Given the description of an element on the screen output the (x, y) to click on. 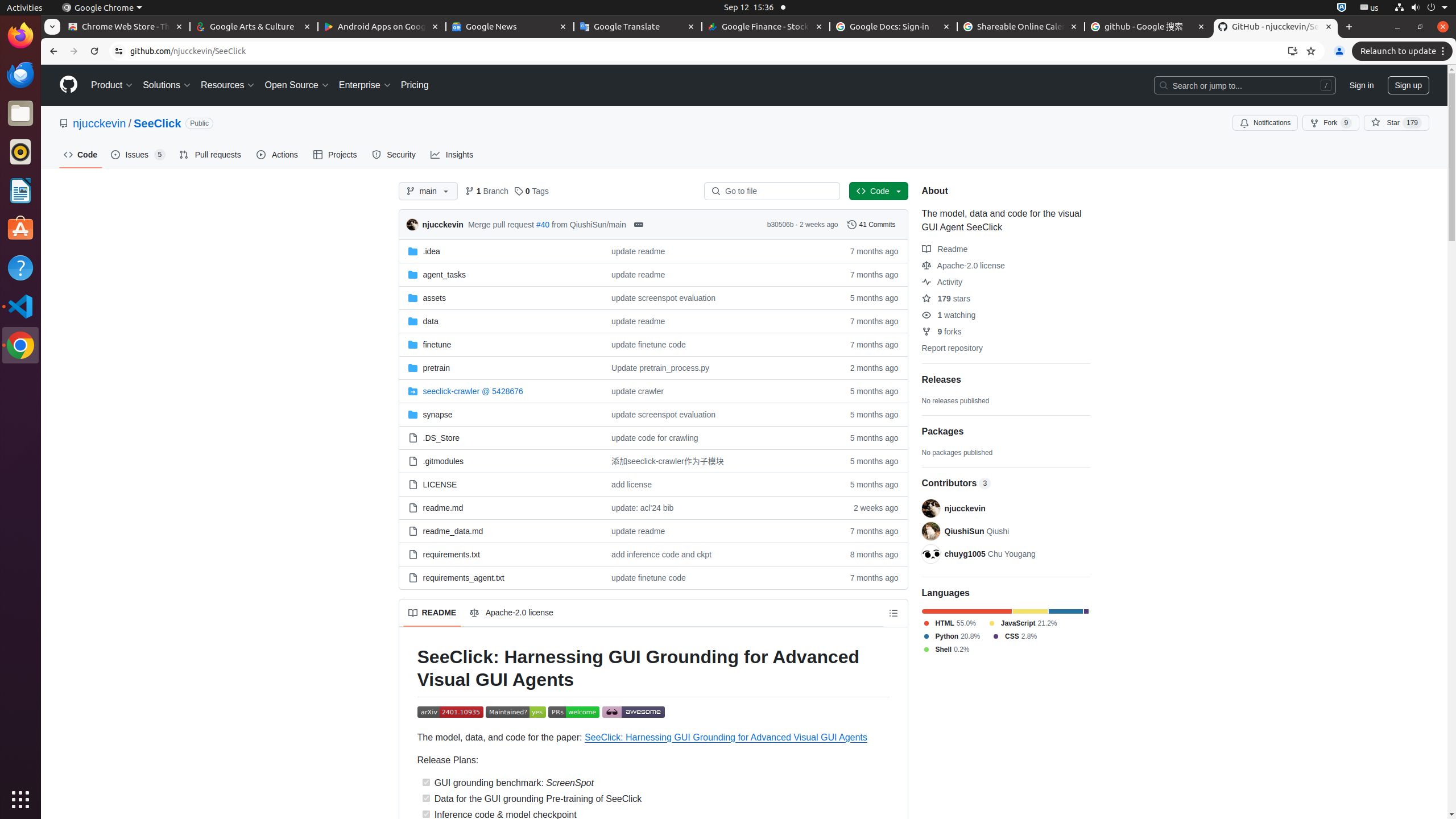
Forward Element type: push-button (73, 50)
requirements_agent.txt, (File) Element type: table-cell (500, 577)
.DS_Store, (File) Element type: table-cell (500, 437)
Shell 0.2% Element type: link (945, 649)
Show Applications Element type: toggle-button (20, 799)
